Given the description of an element on the screen output the (x, y) to click on. 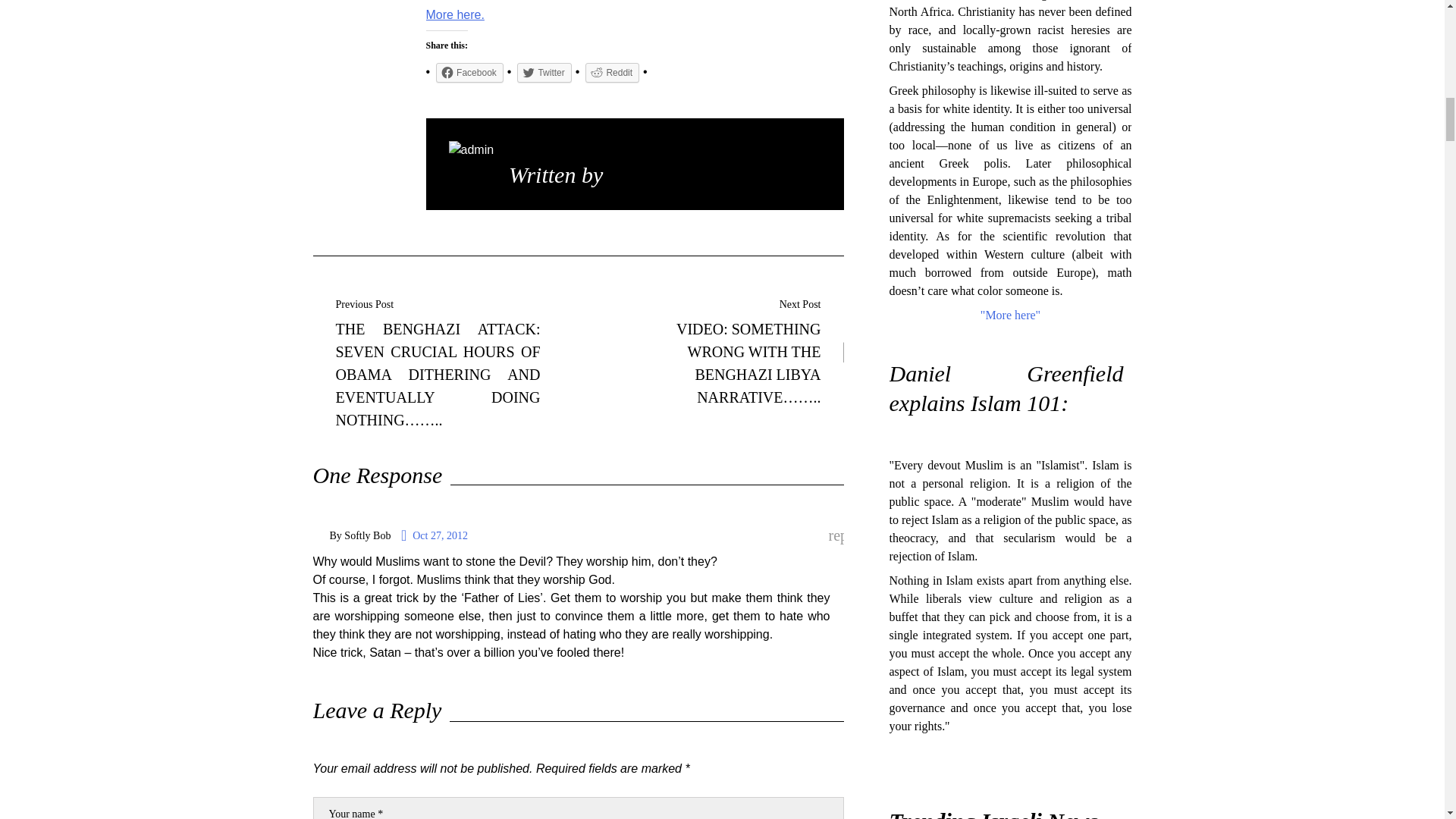
"More here" (1010, 314)
Posts by KGS (630, 174)
Reddit (612, 72)
reply (835, 535)
Click to share on Facebook (469, 72)
More here. (455, 14)
Click to share on Reddit (612, 72)
Click to share on Twitter (543, 72)
Oct 27, 2012 (434, 535)
KGS (630, 174)
Facebook (469, 72)
Twitter (543, 72)
